Given the description of an element on the screen output the (x, y) to click on. 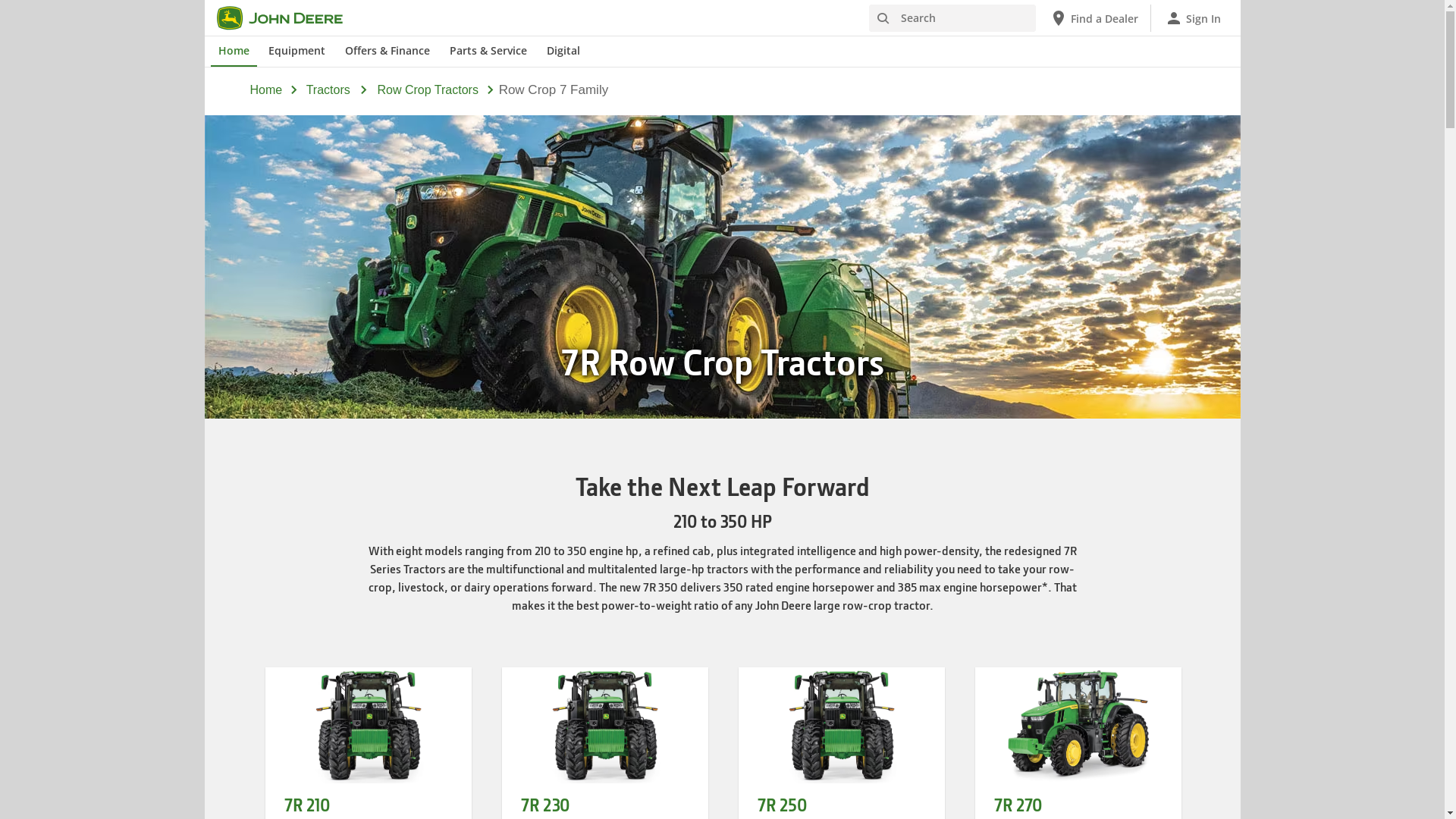
Home Element type: text (266, 89)
Digital Element type: text (563, 51)
Parts & Service Element type: text (488, 51)
Find a Dealer Element type: text (1093, 17)
Sign In Element type: text (1192, 17)
7R 210 Element type: text (306, 804)
John Deere Element type: hover (288, 18)
Home Element type: text (233, 51)
Offers & Finance Element type: text (387, 51)
Row Crop Tractors Element type: text (427, 90)
7R 250 Element type: text (781, 804)
7R 270 Element type: text (1017, 804)
7R 230 Element type: text (544, 804)
Tractors Element type: text (328, 90)
Equipment Element type: text (296, 51)
